Given the description of an element on the screen output the (x, y) to click on. 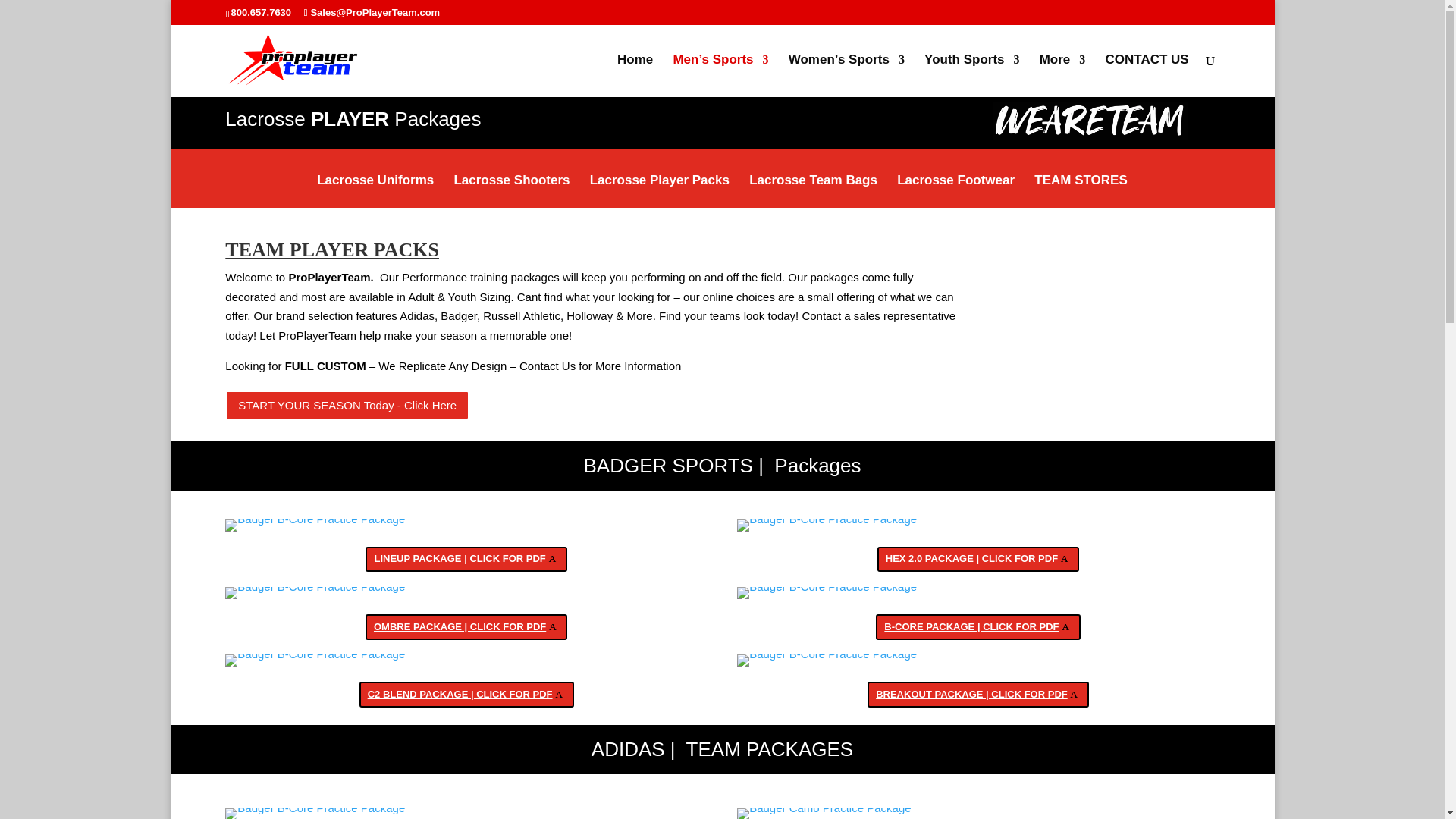
Badger B-Core Practice Package (826, 660)
Badger B-Core Practice Package (314, 660)
Badger B-Core Practice Package (314, 813)
Home (634, 75)
Badger Camo Practice Package (823, 813)
Badger B-Core Practice Package (314, 592)
Badger B-Core Practice Package (314, 525)
Badger B-Core Practice Package (826, 525)
Badger B-Core Practice Package (826, 592)
